Given the description of an element on the screen output the (x, y) to click on. 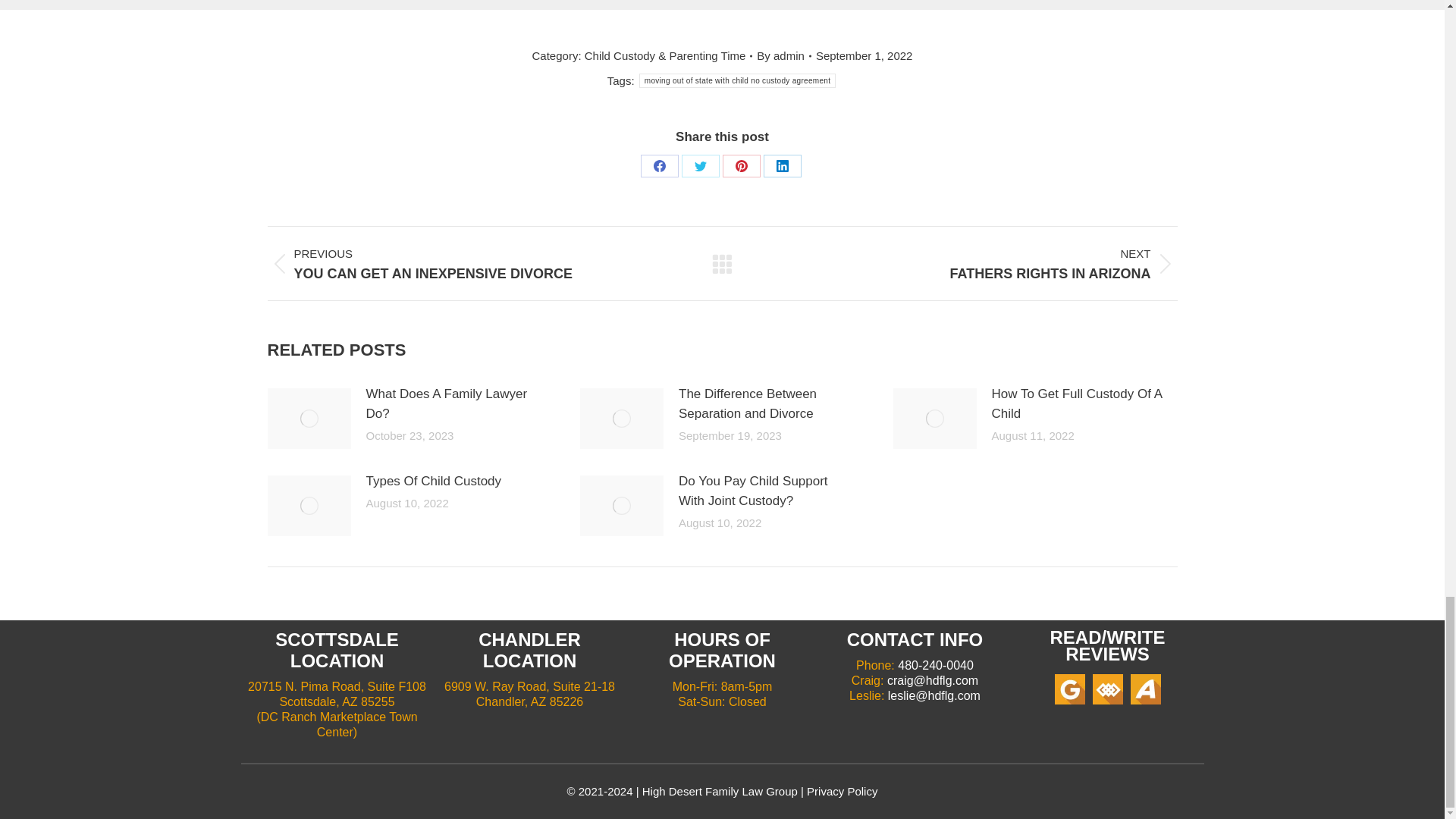
6:13 pm (863, 55)
Pinterest (741, 165)
Twitter (700, 165)
LinkedIn (781, 165)
View all posts by admin (783, 55)
Facebook (659, 165)
